Given the description of an element on the screen output the (x, y) to click on. 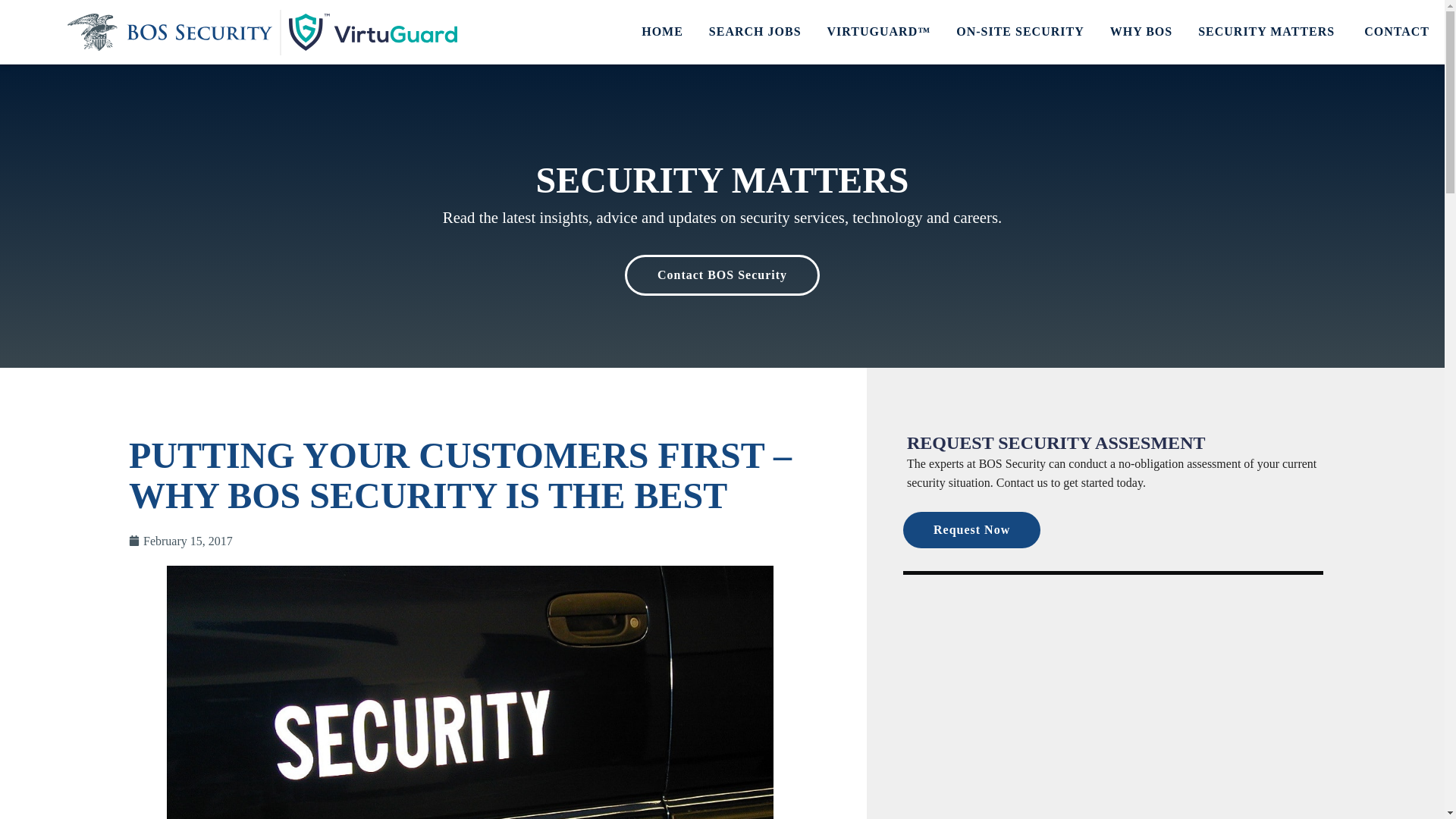
WHY BOS (1140, 31)
CONTACT (1396, 31)
ON-SITE SECURITY (1019, 31)
SEARCH JOBS (755, 31)
SECURITY MATTERS  (1268, 31)
